Given the description of an element on the screen output the (x, y) to click on. 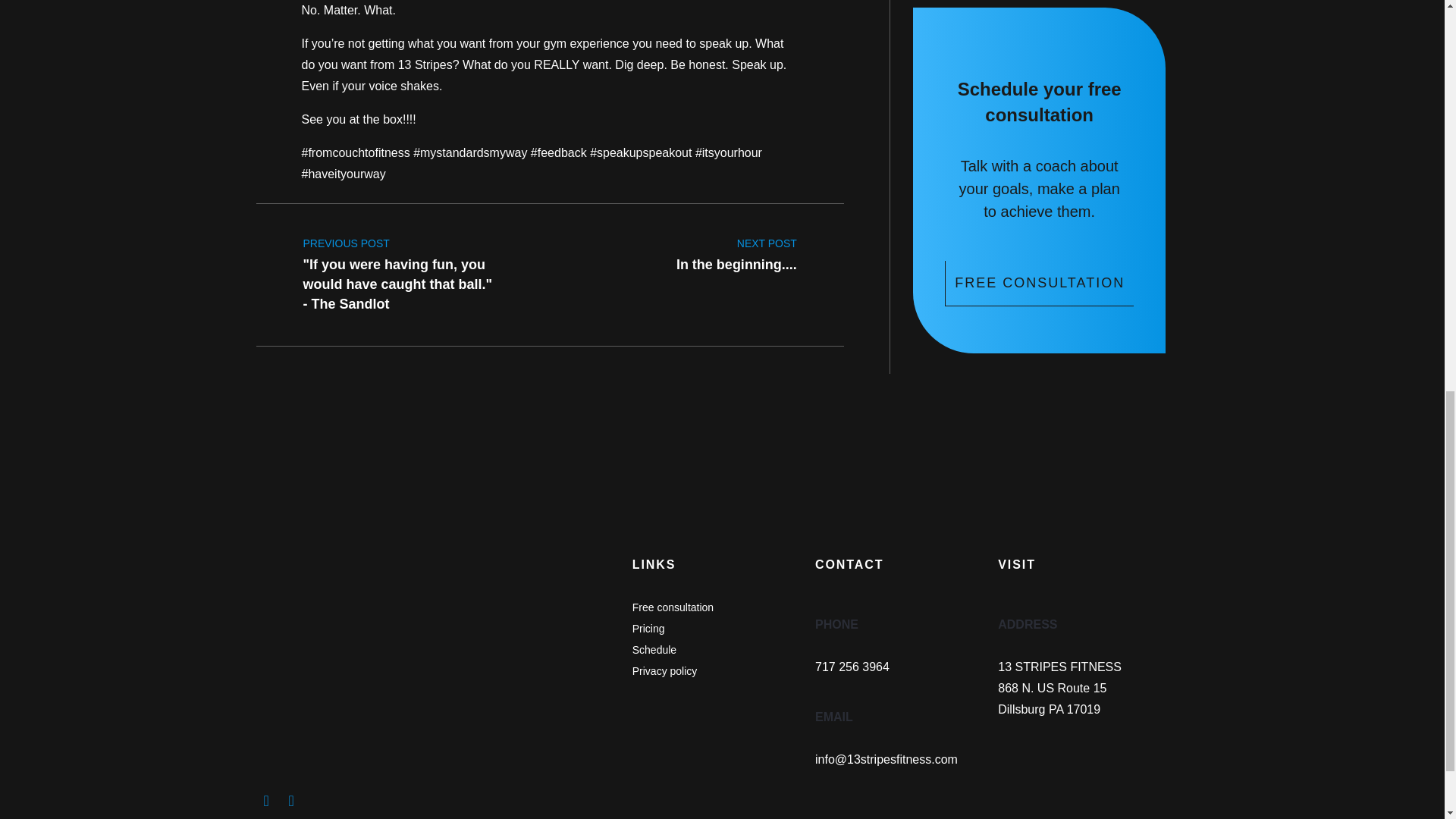
In the beginning.... (736, 249)
FREE CONSULTATION (1039, 283)
